Given the description of an element on the screen output the (x, y) to click on. 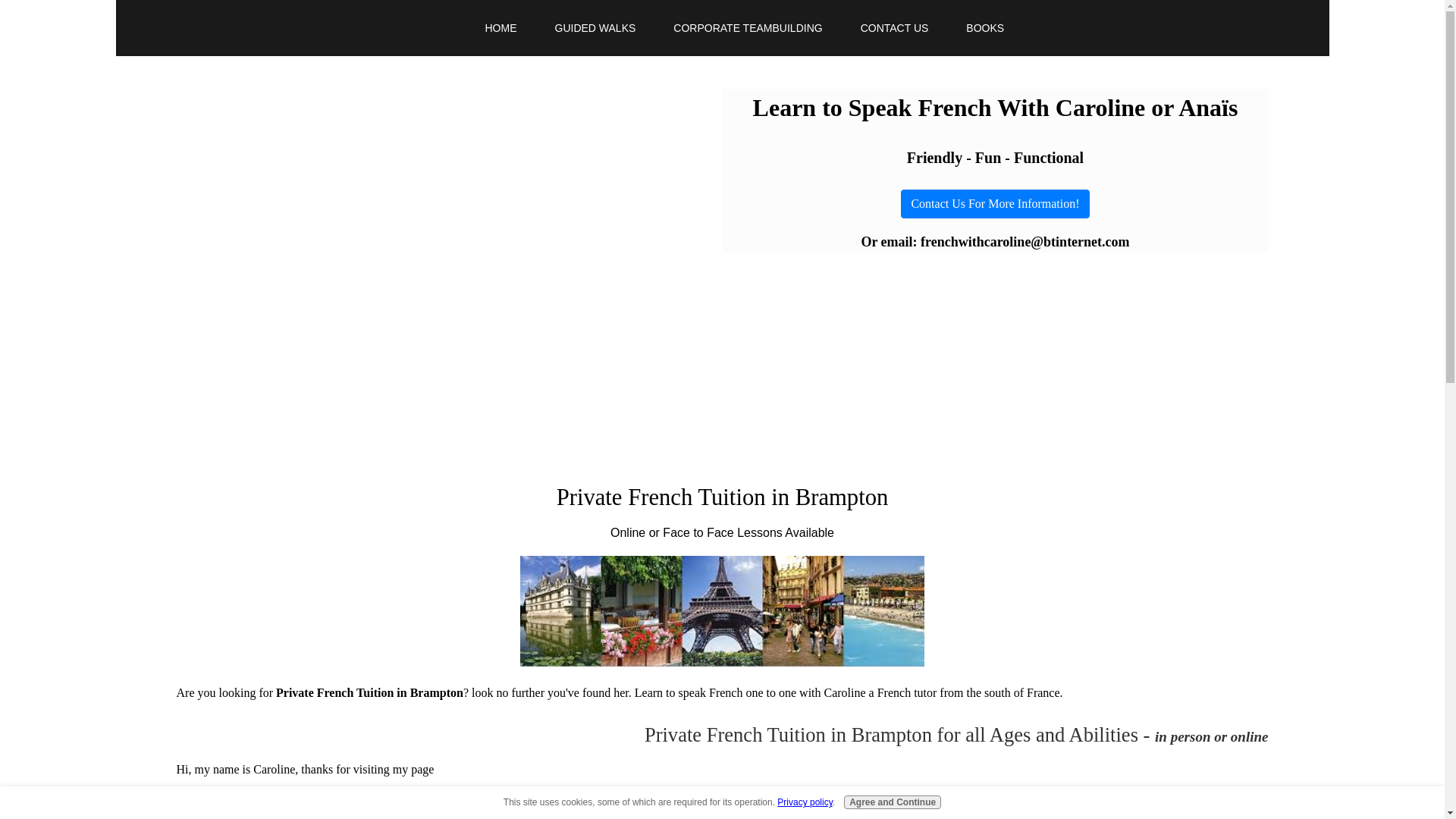
Privacy policy (804, 801)
HOME (500, 27)
Agree and Continue (892, 802)
BOOKS (985, 27)
Contact Us For More Information! (995, 203)
GUIDED WALKS (594, 27)
CORPORATE TEAMBUILDING (747, 27)
Go to Contact near Chesterfield Derbyshire (995, 203)
CONTACT US (894, 27)
